Given the description of an element on the screen output the (x, y) to click on. 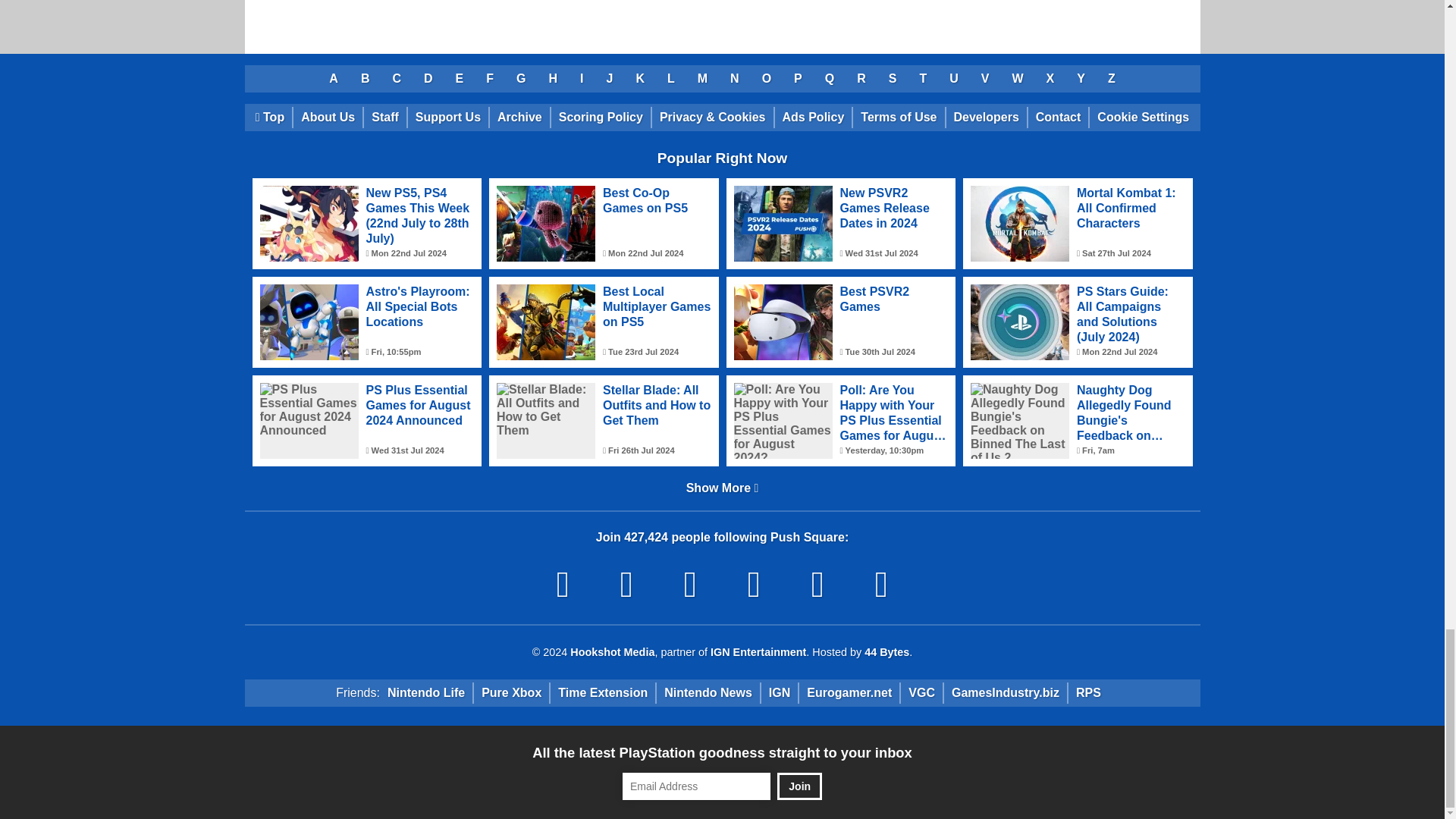
Join (799, 786)
